Given the description of an element on the screen output the (x, y) to click on. 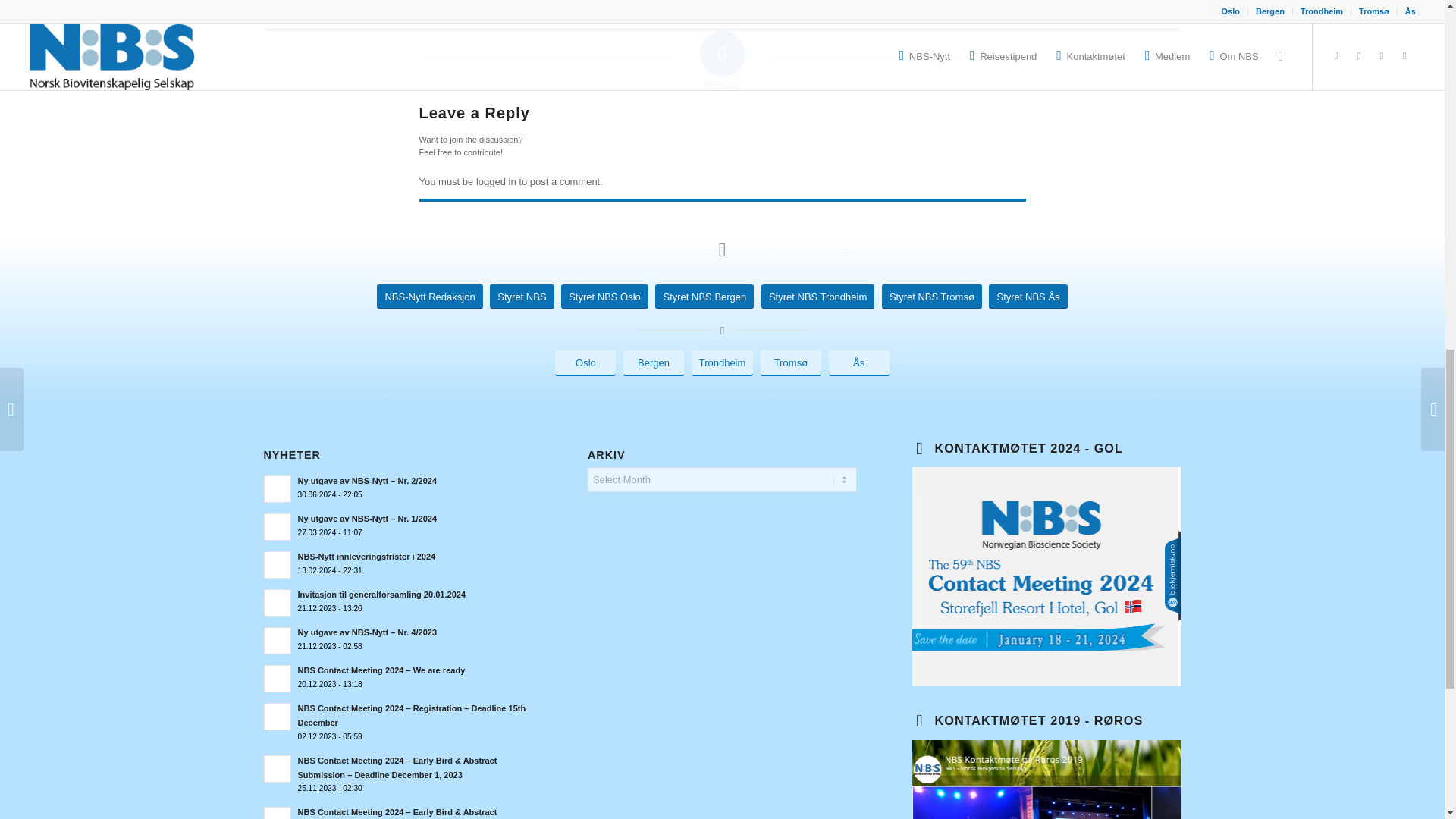
Read: Invitasjon til generalforsamling 20.01.2024 (381, 593)
Read: NBS-Nytt innleveringsfrister i 2024 (277, 564)
Read: Invitasjon til generalforsamling 20.01.2024 (277, 602)
Read: NBS-Nytt innleveringsfrister i 2024 (366, 556)
